Given the description of an element on the screen output the (x, y) to click on. 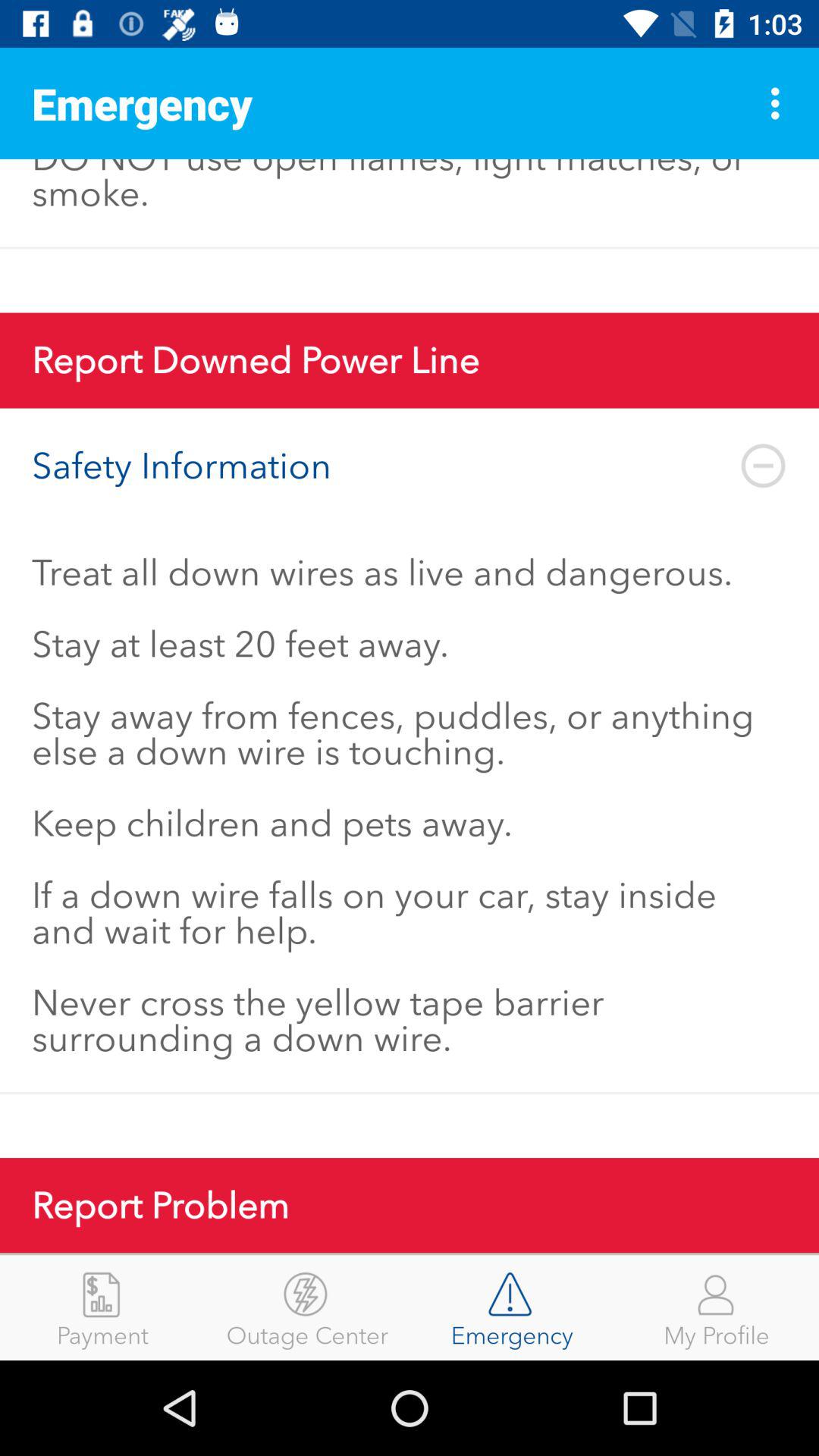
swipe to report downed power icon (409, 360)
